Given the description of an element on the screen output the (x, y) to click on. 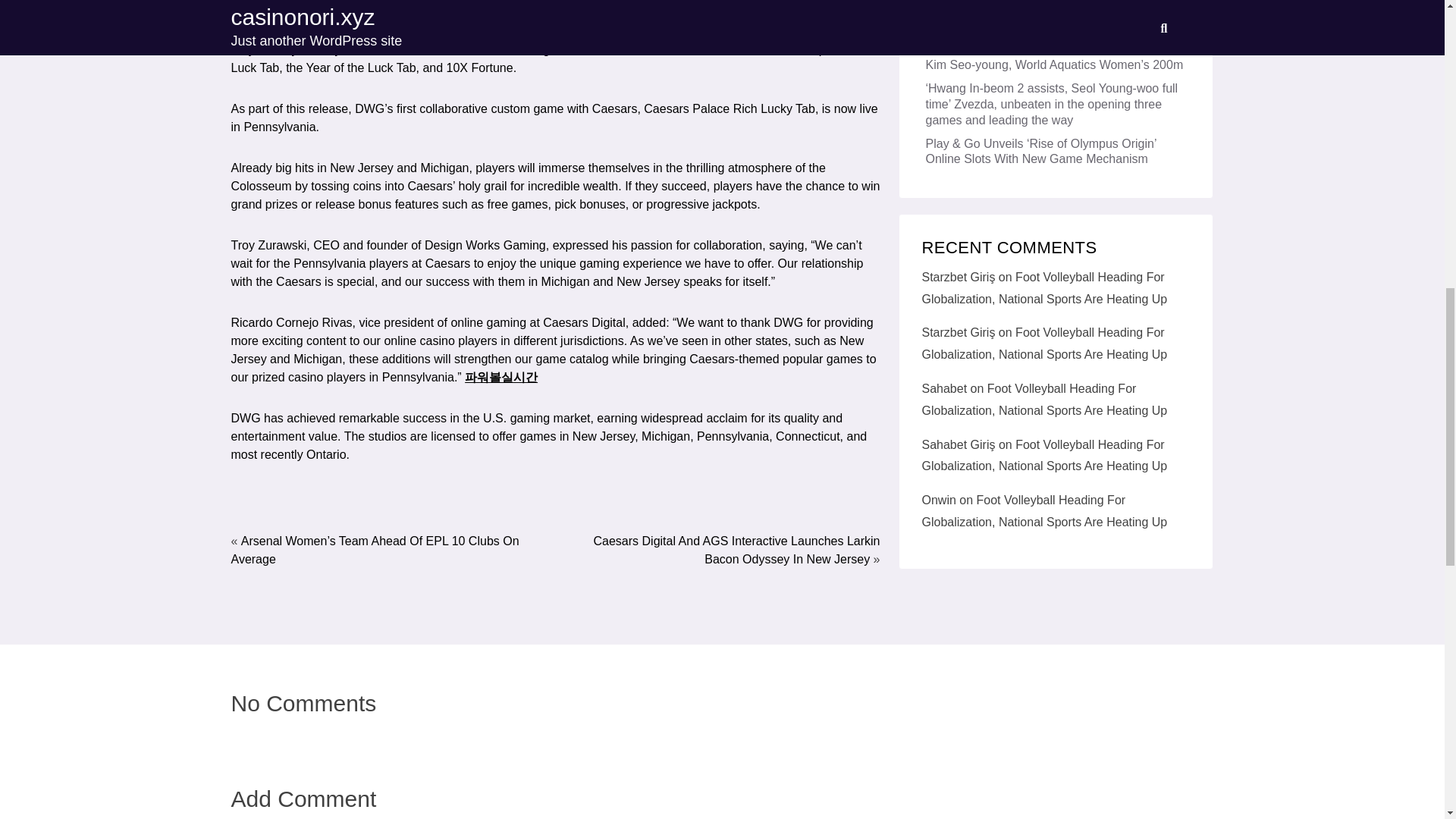
Onwin (938, 2)
